Given the description of an element on the screen output the (x, y) to click on. 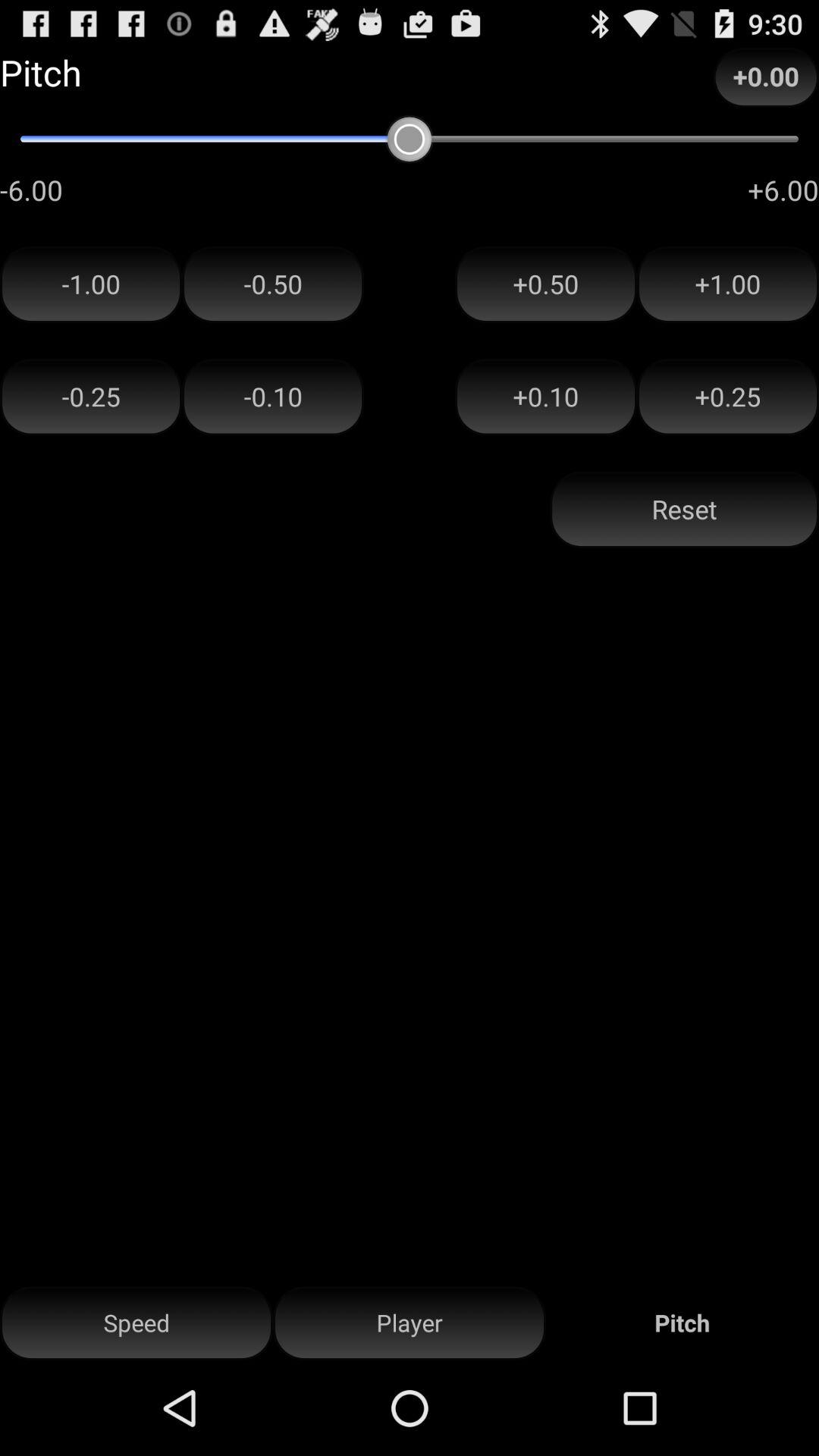
press icon next to the player button (136, 1323)
